Given the description of an element on the screen output the (x, y) to click on. 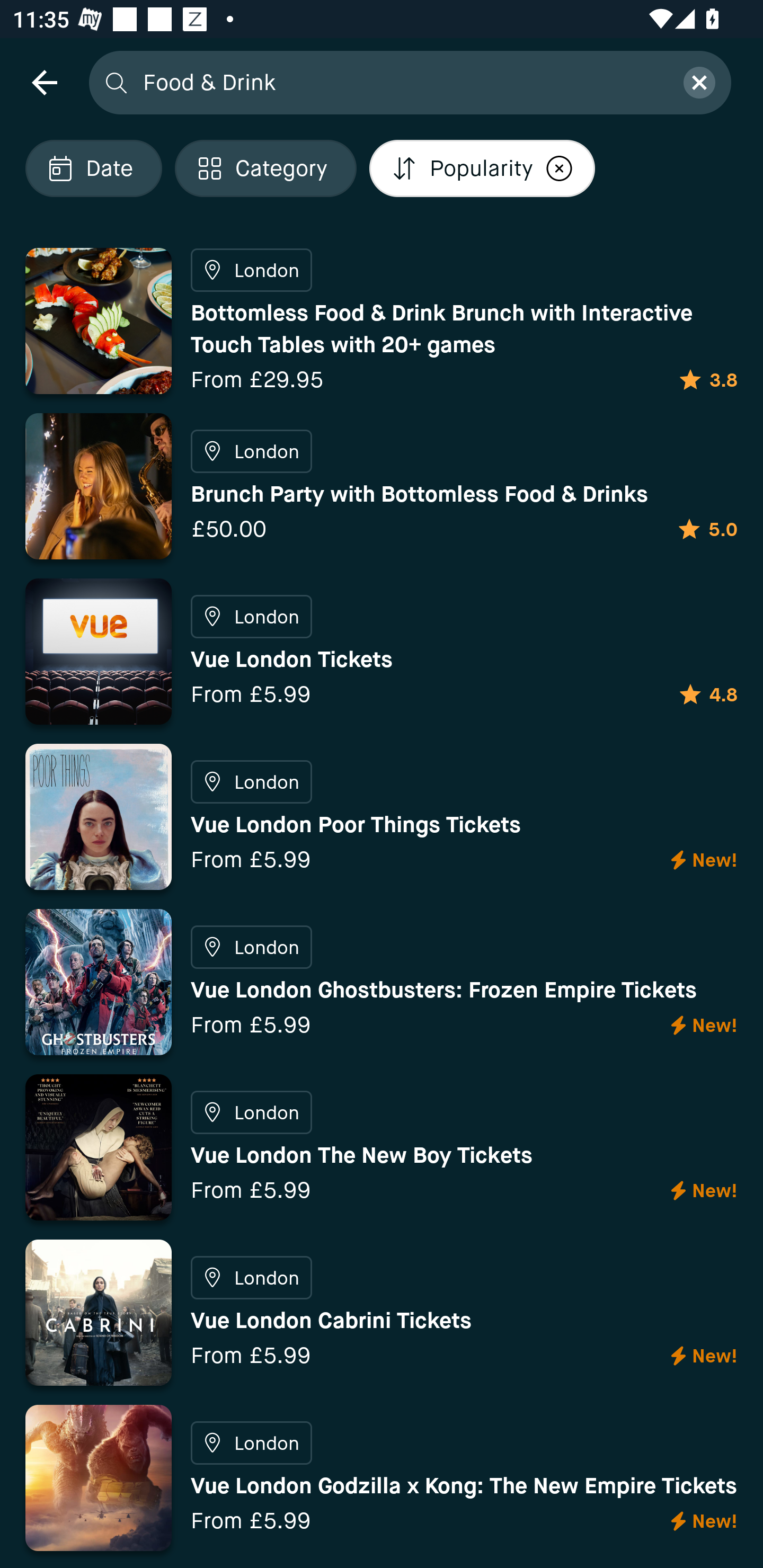
navigation icon (44, 81)
Food & Drink (402, 81)
Localized description Date (93, 168)
Localized description Category (265, 168)
Localized description (559, 168)
